Given the description of an element on the screen output the (x, y) to click on. 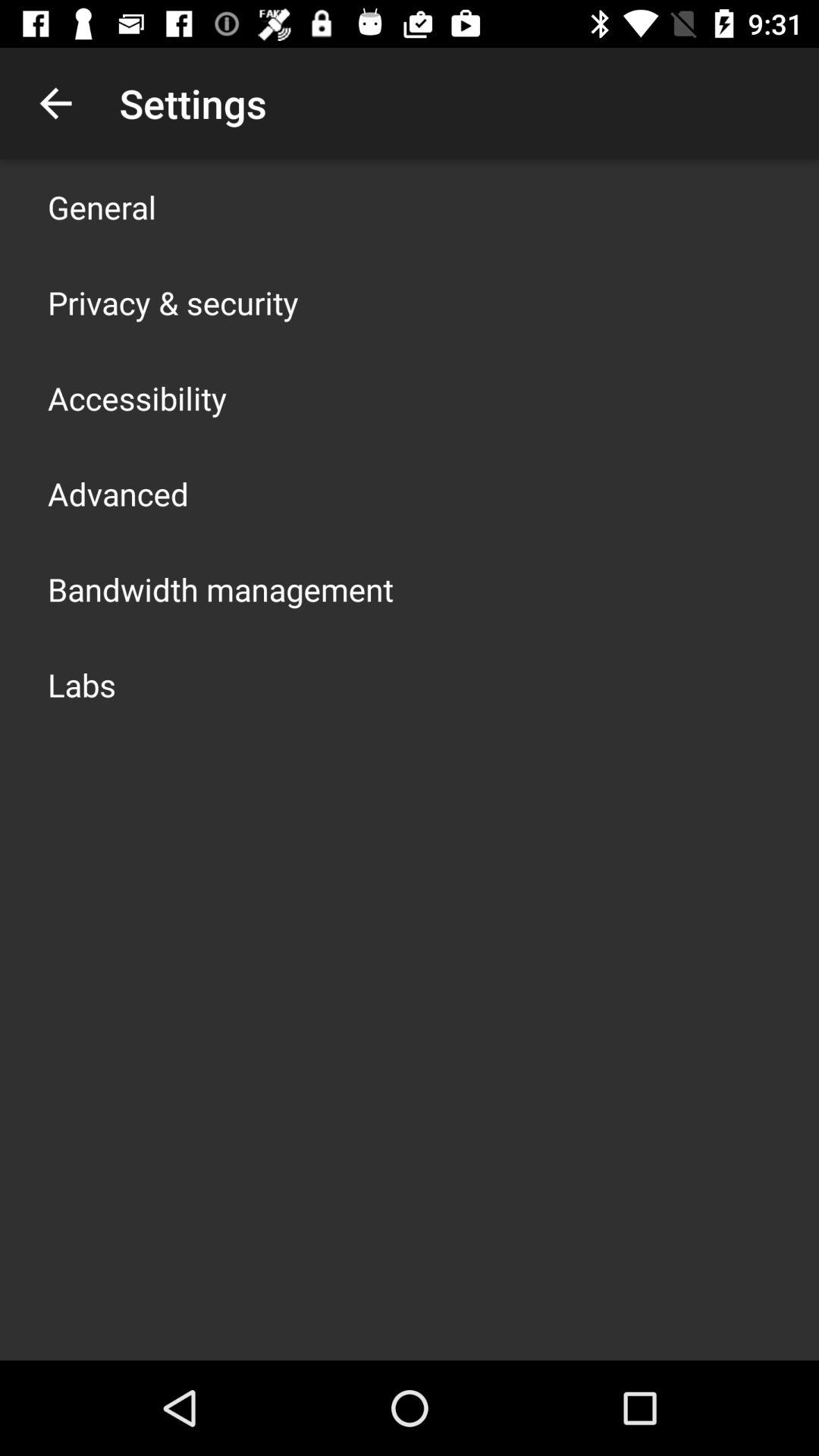
jump until the general icon (101, 206)
